Given the description of an element on the screen output the (x, y) to click on. 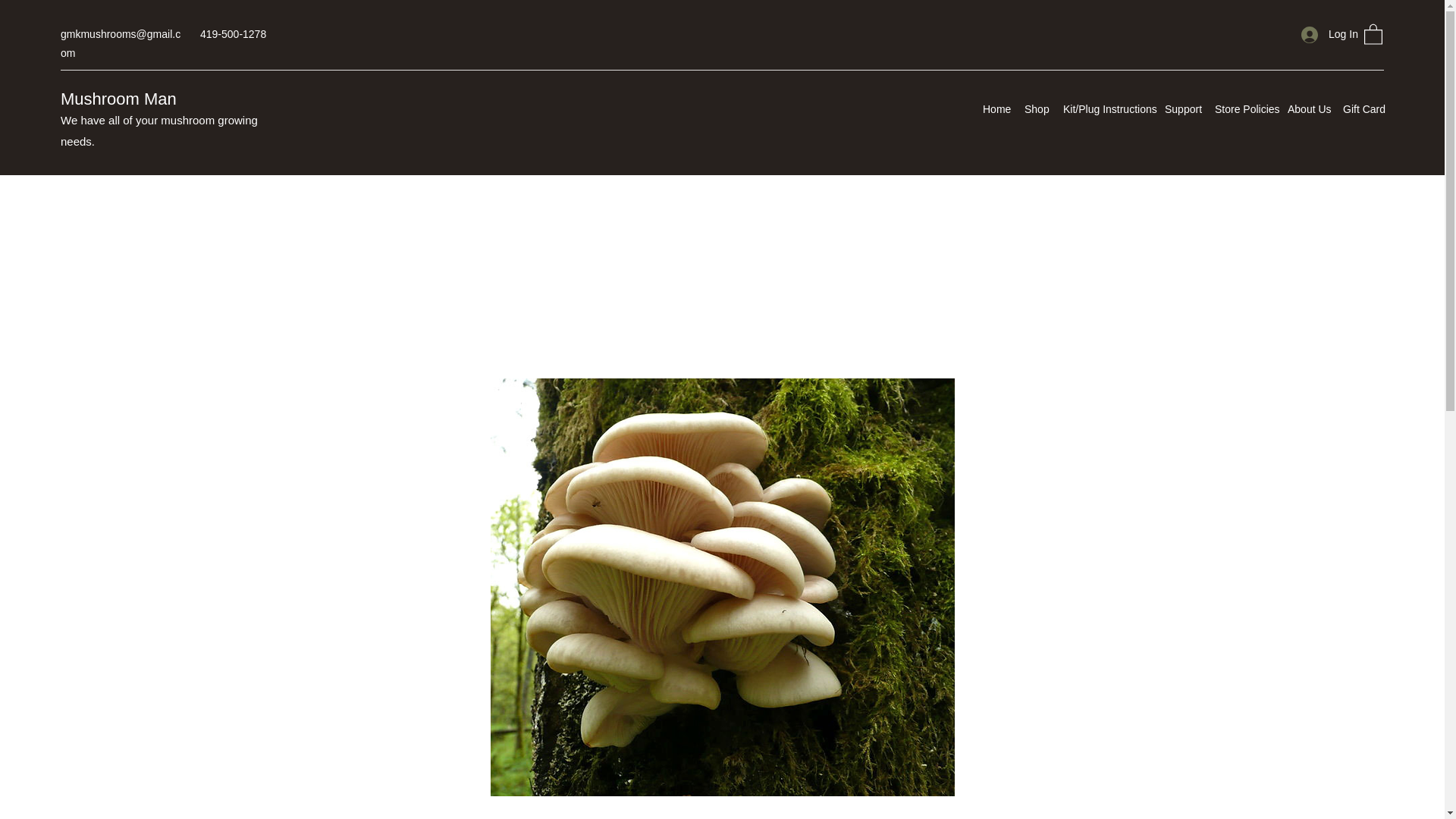
Mushroom Man (118, 98)
Gift Card (1363, 108)
Shop (1035, 108)
Log In (1324, 34)
Home (995, 108)
Support (1182, 108)
Store Policies (1243, 108)
About Us (1307, 108)
